Given the description of an element on the screen output the (x, y) to click on. 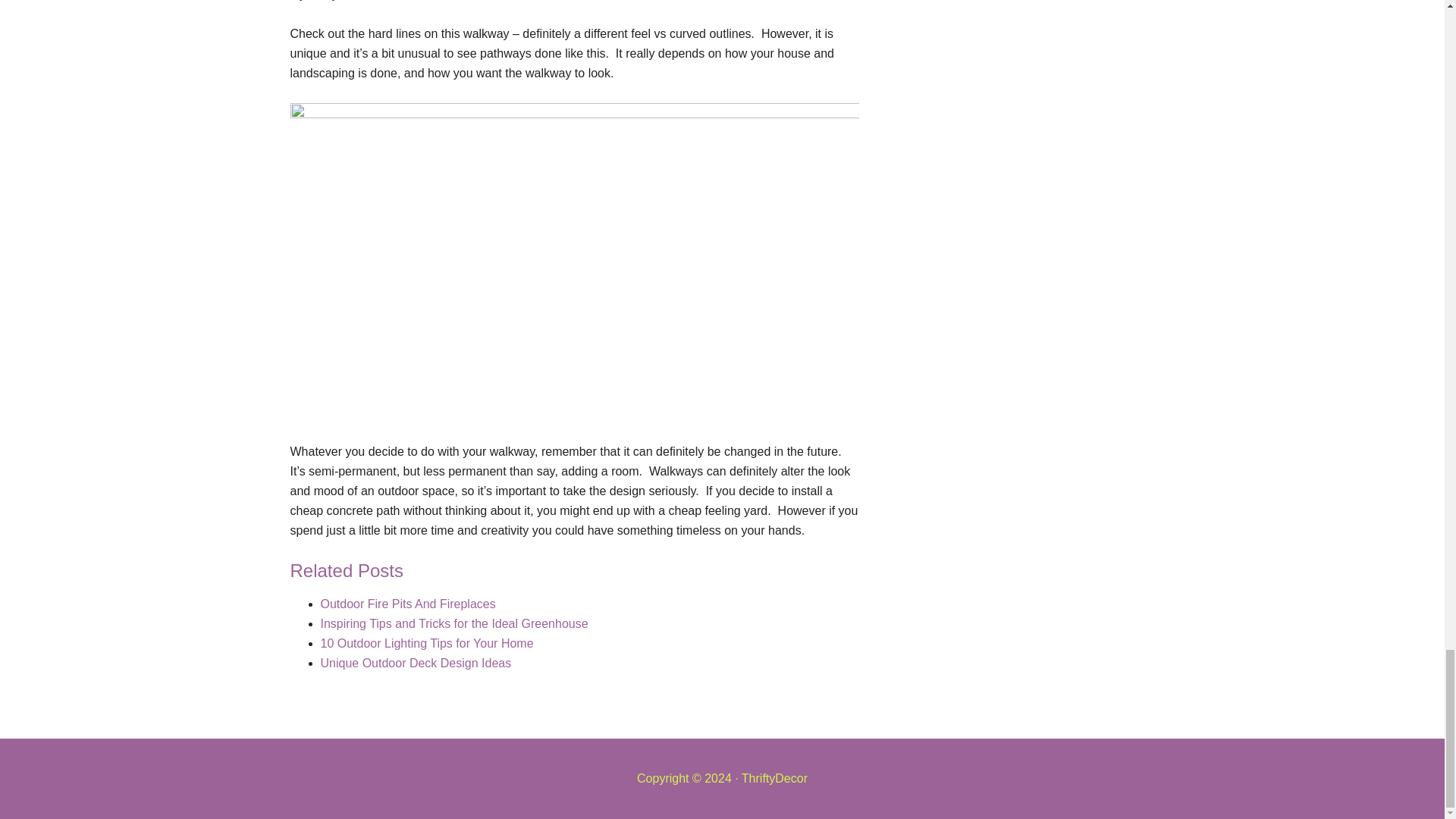
Inspiring Tips and Tricks for the Ideal Greenhouse (454, 623)
Outdoor Fire Pits And Fireplaces (407, 603)
10 Outdoor Lighting Tips for Your Home (426, 643)
Unique Outdoor Deck Design Ideas (415, 662)
